Given the description of an element on the screen output the (x, y) to click on. 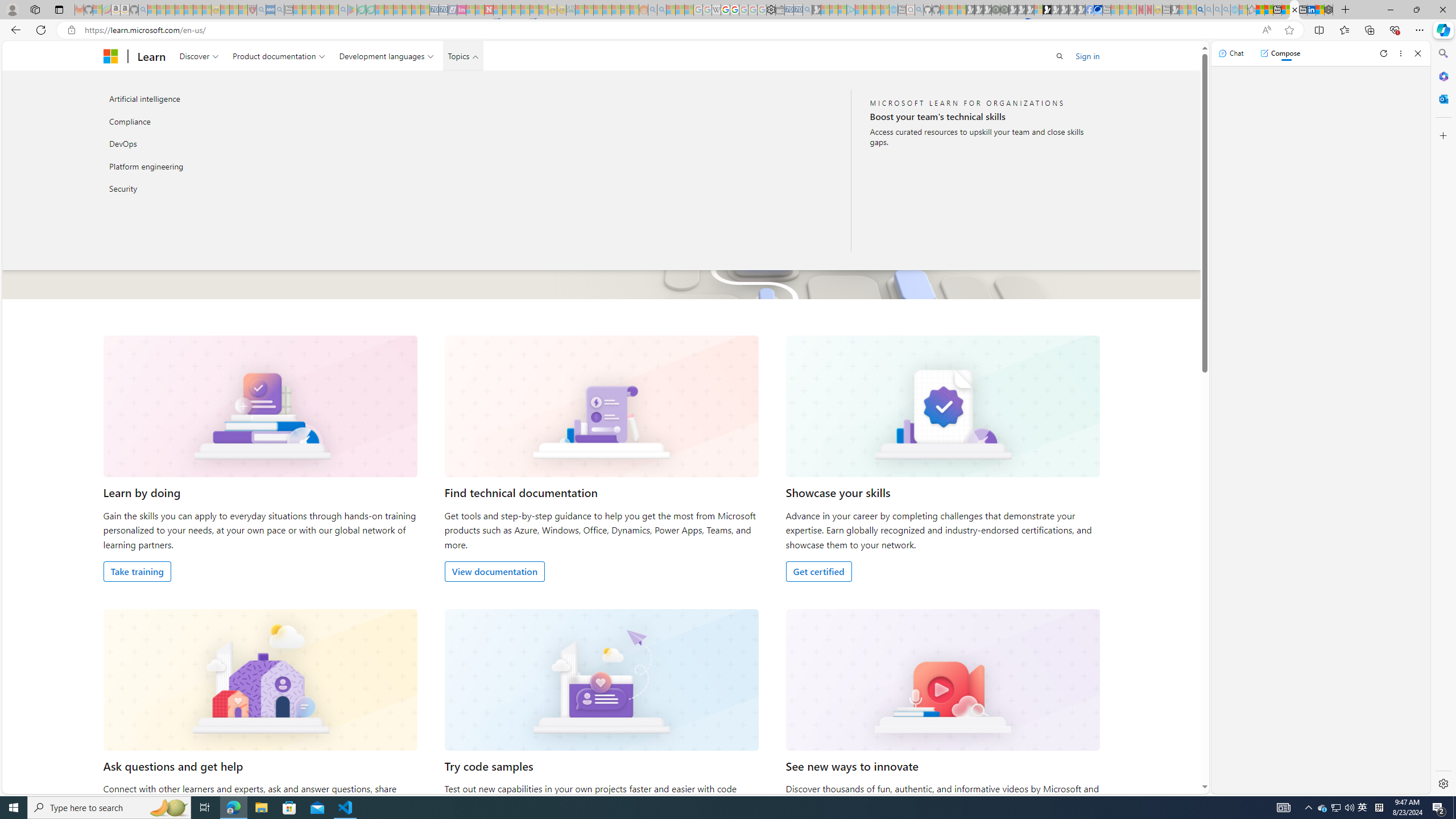
Get certified (817, 571)
DevOps (224, 144)
Security (224, 188)
Aberdeen, Hong Kong SAR weather forecast | Microsoft Weather (1268, 9)
Take training (137, 571)
